Given the description of an element on the screen output the (x, y) to click on. 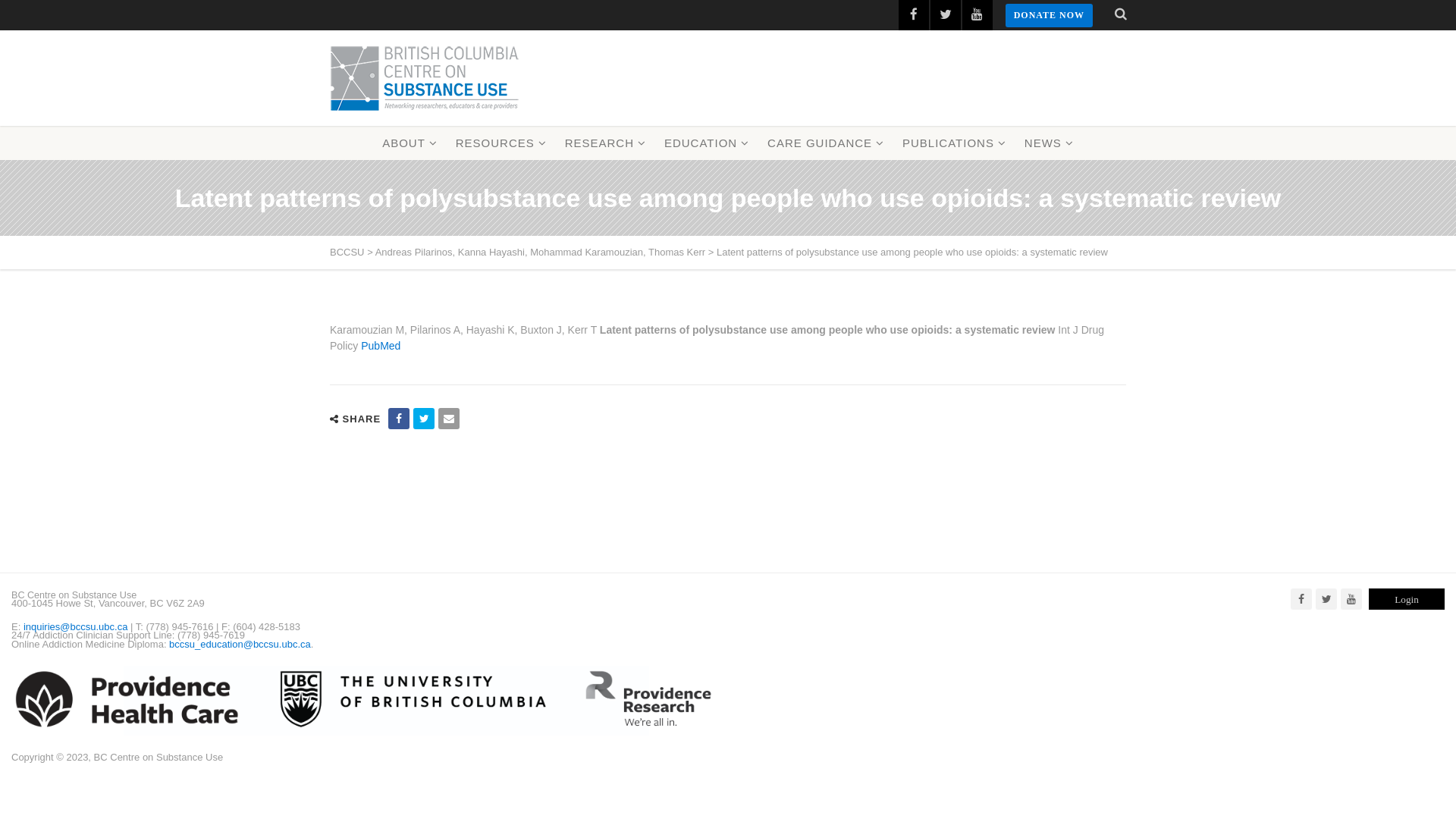
CARE GUIDANCE Element type: text (825, 142)
PubMed Element type: text (380, 345)
Share on Facebook Element type: hover (398, 418)
BCCSU Element type: text (346, 251)
Thomas Kerr Element type: text (676, 251)
bccsu_education@bccsu.ubc.ca Element type: text (239, 643)
RESOURCES Element type: text (500, 142)
ABOUT Element type: text (409, 142)
Andreas Pilarinos Element type: text (413, 251)
Kanna Hayashi Element type: text (491, 251)
Mohammad Karamouzian Element type: text (586, 251)
EDUCATION Element type: text (706, 142)
Tweet Element type: hover (423, 418)
BCCSU Element type: hover (424, 77)
PUBLICATIONS Element type: text (954, 142)
Login Element type: text (1406, 598)
Email Element type: hover (448, 418)
inquiries@bccsu.ubc.ca Element type: text (75, 626)
NEWS Element type: text (1048, 142)
RESEARCH Element type: text (605, 142)
DONATE NOW Element type: text (1048, 15)
